Given the description of an element on the screen output the (x, y) to click on. 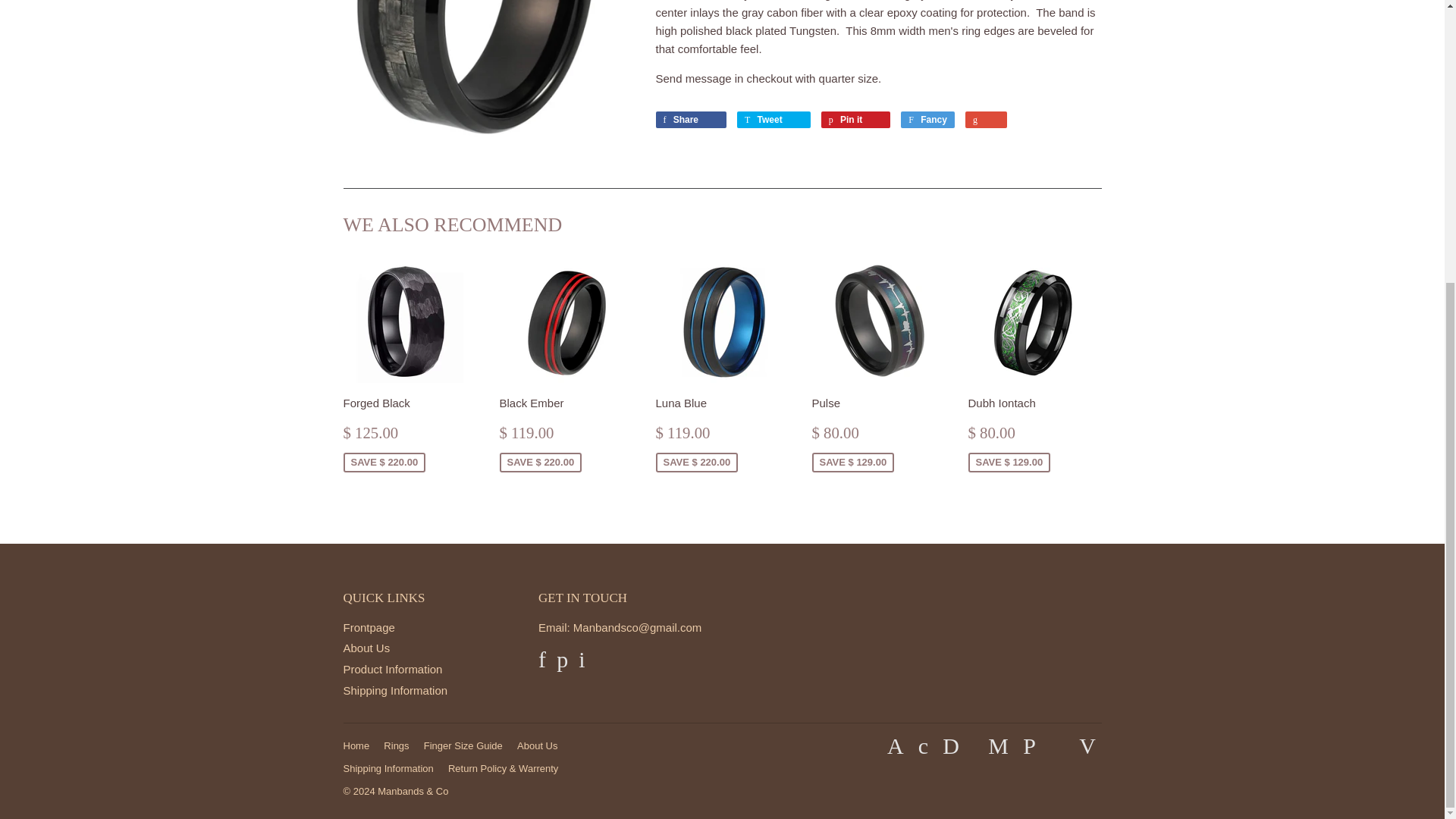
Product Information (392, 668)
Frontpage (368, 626)
Fancy (928, 119)
Share (690, 119)
Home (355, 745)
Rings (396, 745)
Pin it (855, 119)
About Us (366, 647)
Tweet (773, 119)
Finger Size Guide (462, 745)
Shipping Information (387, 767)
About Us (536, 745)
Shipping Information (394, 689)
